Given the description of an element on the screen output the (x, y) to click on. 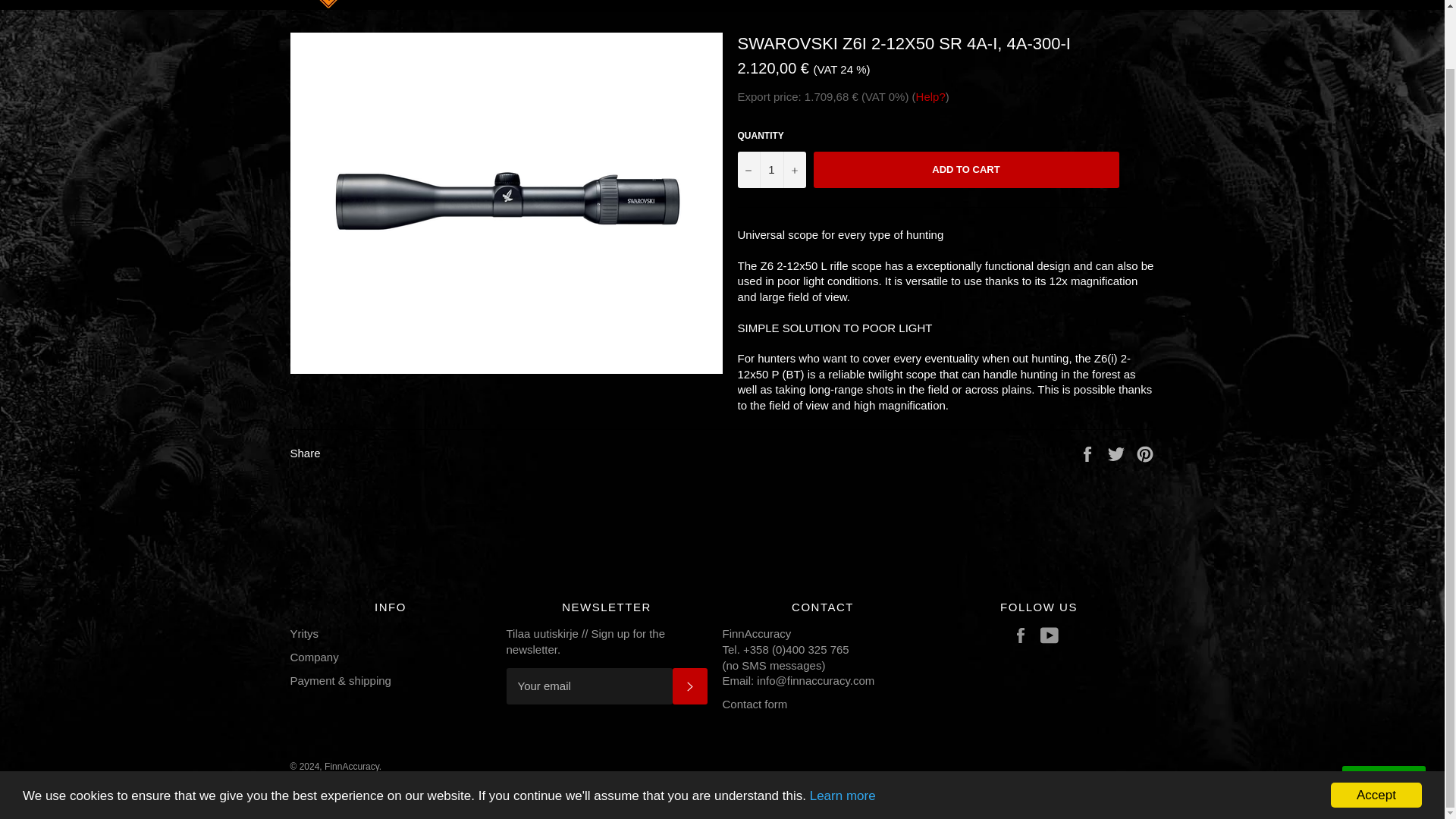
Share on Facebook (1088, 452)
1 (770, 169)
FinnAccuracy on Facebook (1023, 635)
Pin on Pinterest (1144, 452)
FinnAccuracy on YouTube (1053, 635)
Tweet on Twitter (1117, 452)
